Given the description of an element on the screen output the (x, y) to click on. 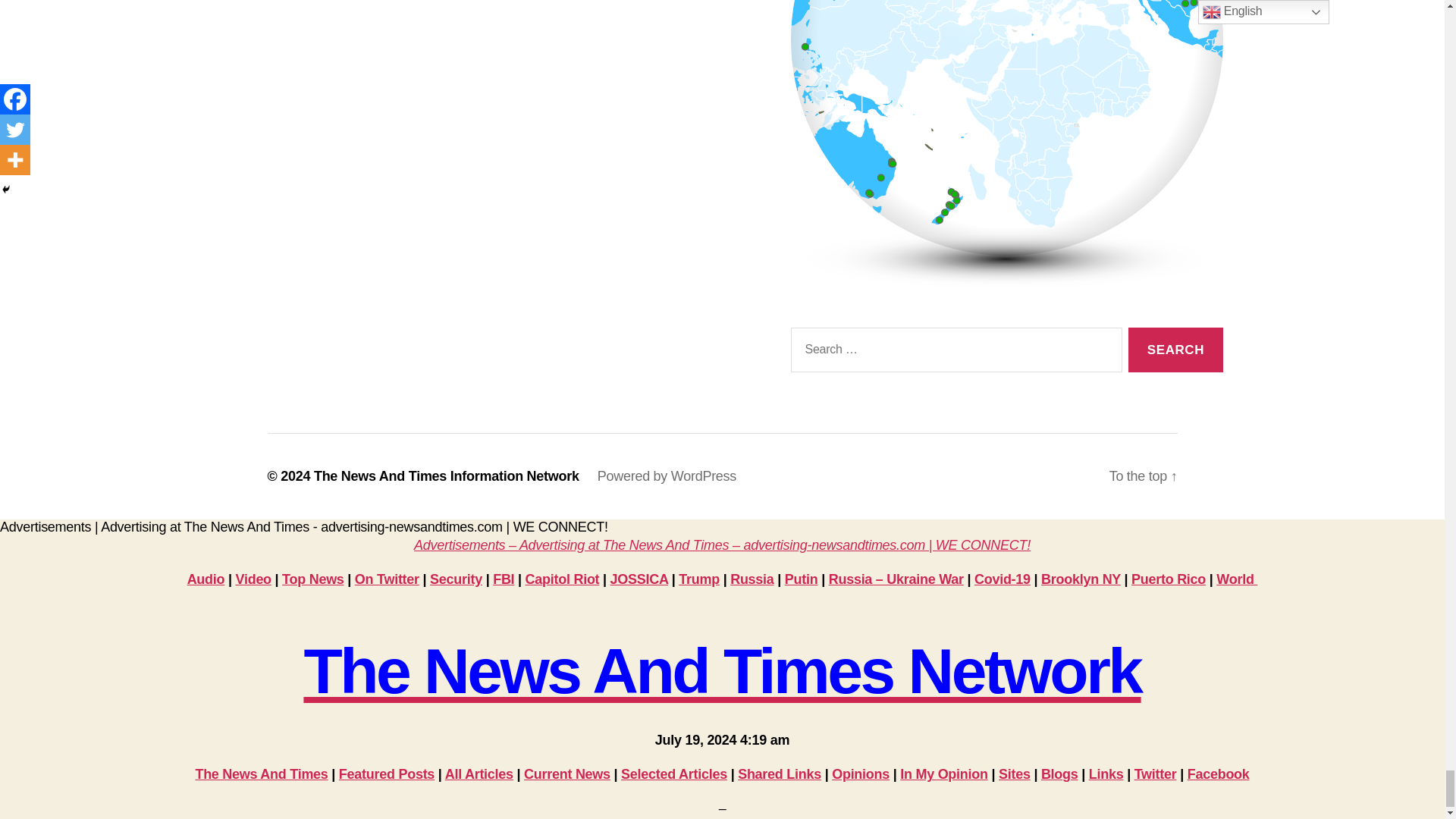
Search (1175, 349)
Search (1175, 349)
